Given the description of an element on the screen output the (x, y) to click on. 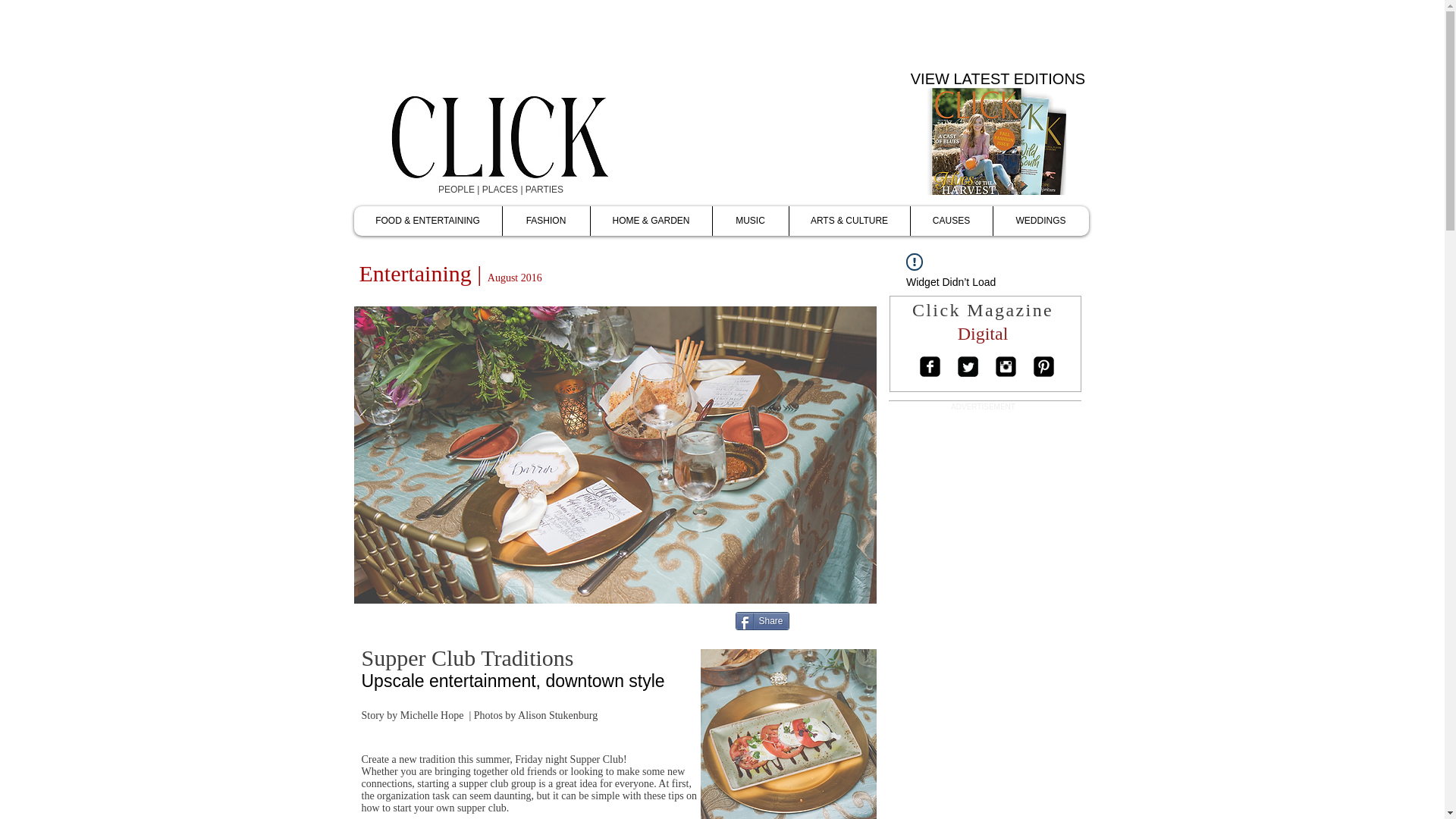
FASHION (545, 220)
Share (762, 620)
MUSIC (749, 220)
Twitter Tweet (814, 620)
HopeFinal-14.png (788, 734)
VIEW LATEST EDITIONS (998, 78)
clickweblogo.jpg (536, 136)
CAUSES (951, 220)
WEDDINGS (1039, 220)
Share (762, 620)
Pin to Pinterest (860, 620)
